Given the description of an element on the screen output the (x, y) to click on. 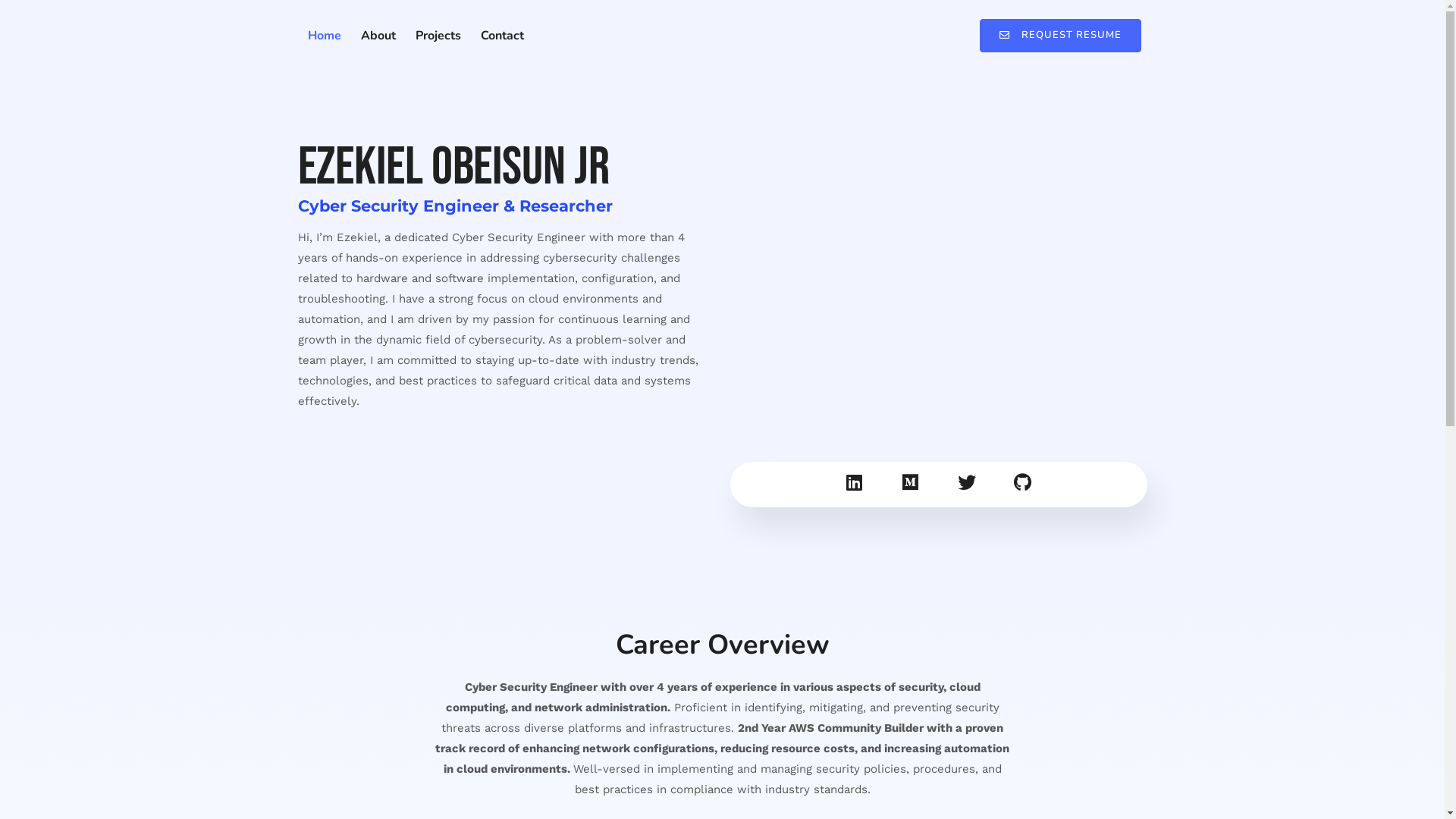
REQUEST RESUME Element type: text (1060, 35)
Contact Element type: text (501, 35)
Projects Element type: text (437, 35)
Home Element type: text (323, 35)
About Element type: text (377, 35)
